Given the description of an element on the screen output the (x, y) to click on. 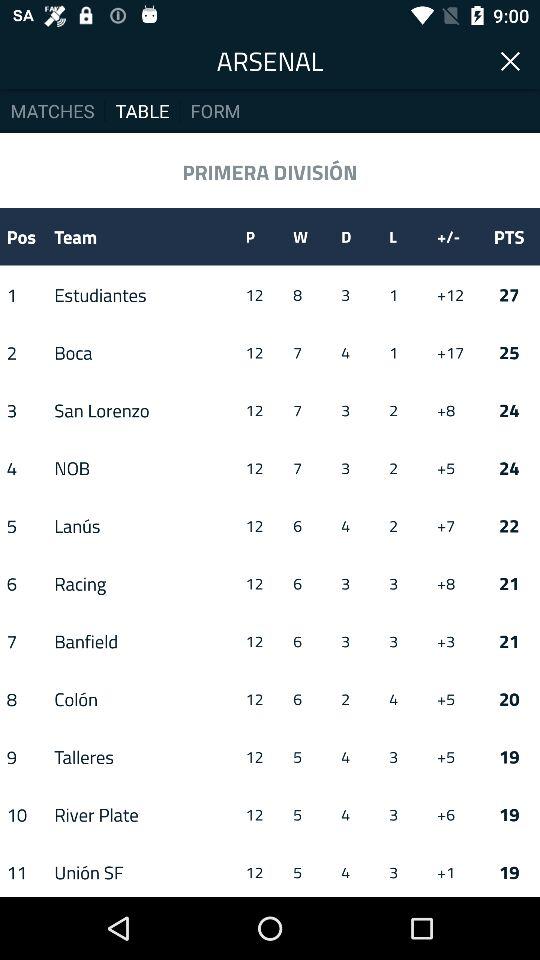
choose the icon next to the arsenal icon (511, 60)
